Given the description of an element on the screen output the (x, y) to click on. 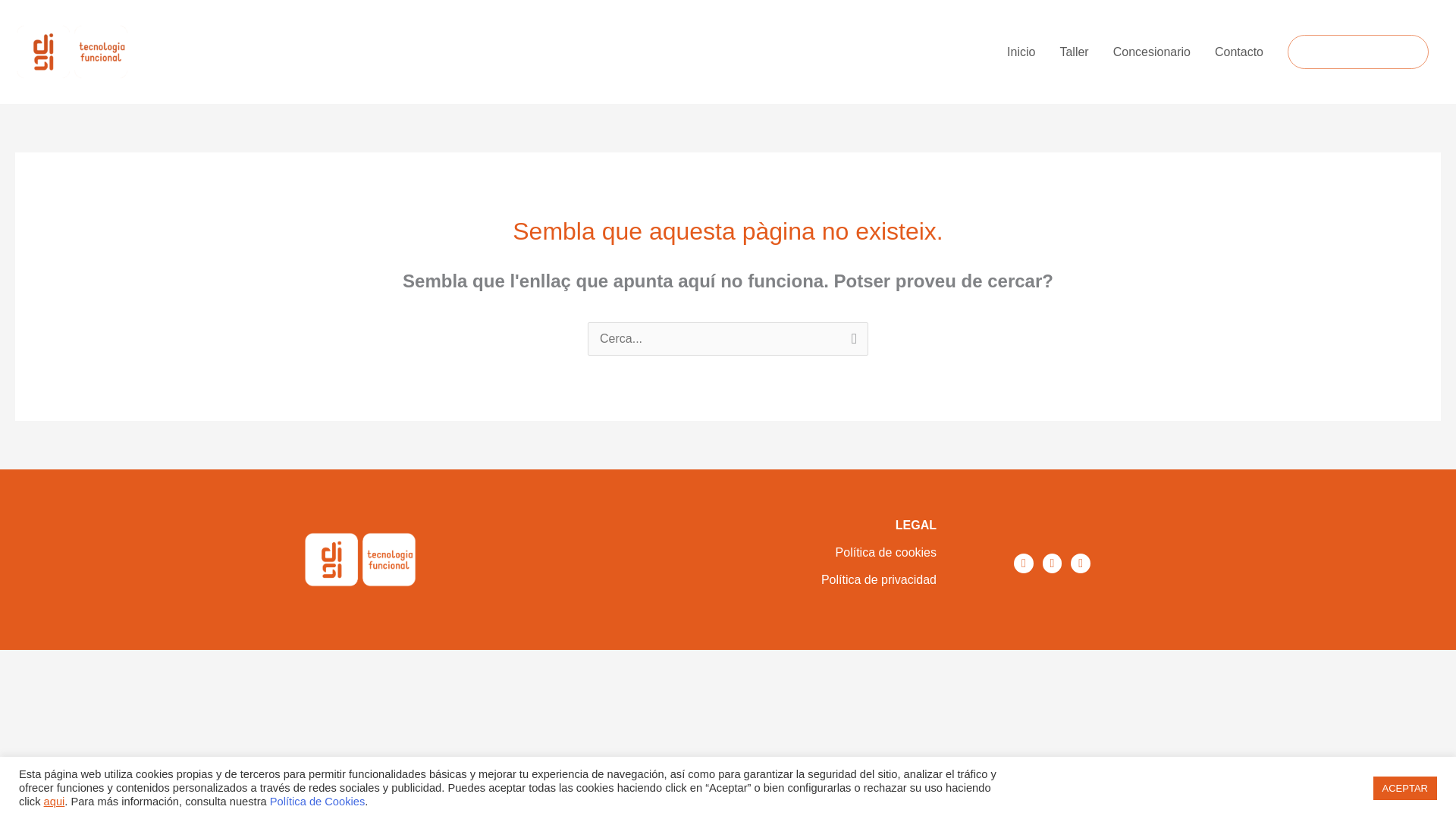
Concesionario (1151, 51)
Empezar ahora (1357, 51)
Whatsapp (1023, 563)
Taller (1073, 51)
Contacto (1238, 51)
Envelope (1080, 563)
Linkedin-in (1052, 563)
Inicio (1020, 51)
